Given the description of an element on the screen output the (x, y) to click on. 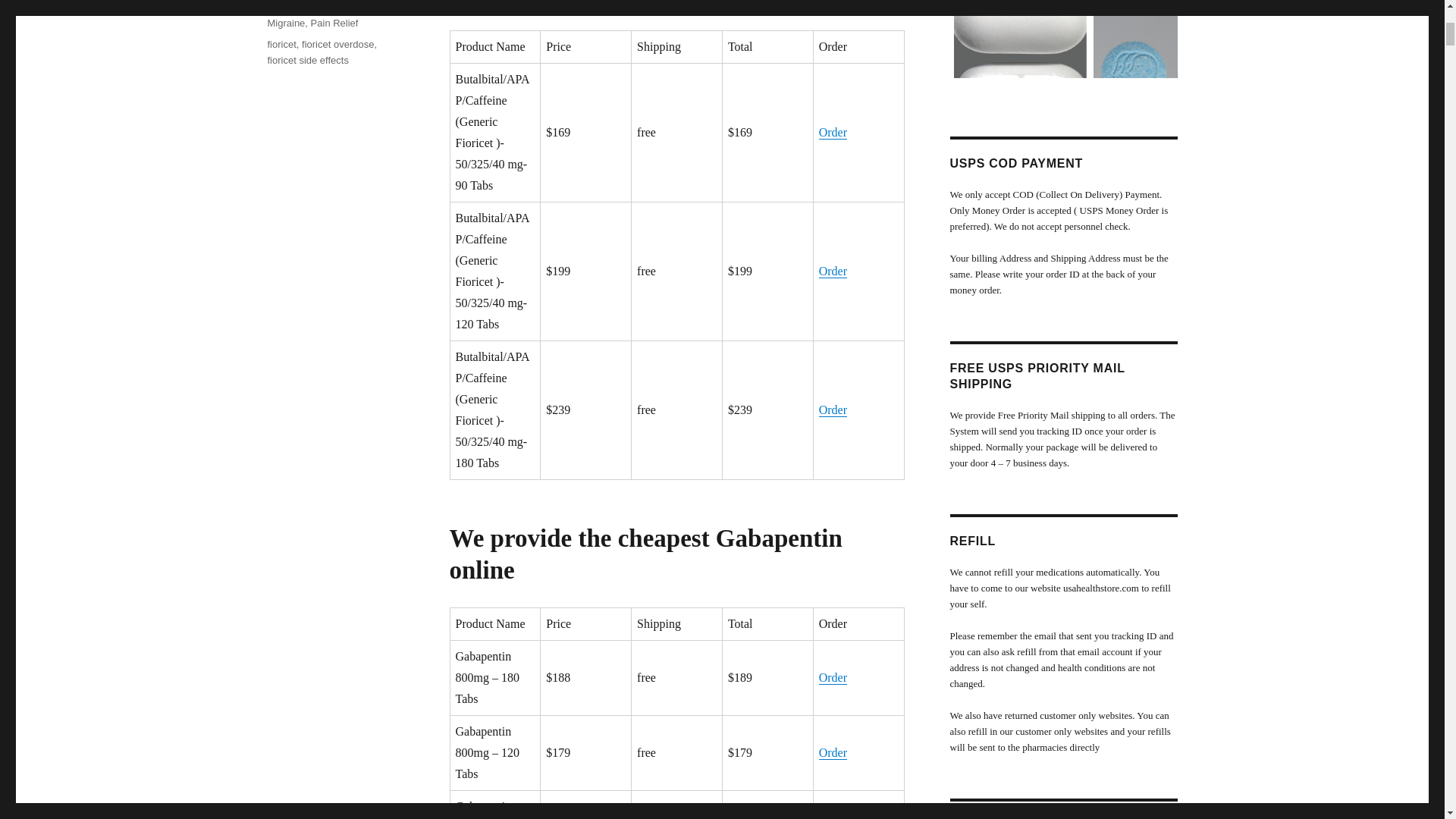
Fioricet (372, 7)
Migraine (285, 22)
fioricet side effects (306, 60)
Order (832, 752)
Order (832, 676)
fioricet overdose (337, 43)
Buy FIoricet Online (308, 7)
Order (832, 270)
Order (832, 814)
Pain Relief (334, 22)
Order (832, 132)
fioricet (280, 43)
Order (832, 409)
